Given the description of an element on the screen output the (x, y) to click on. 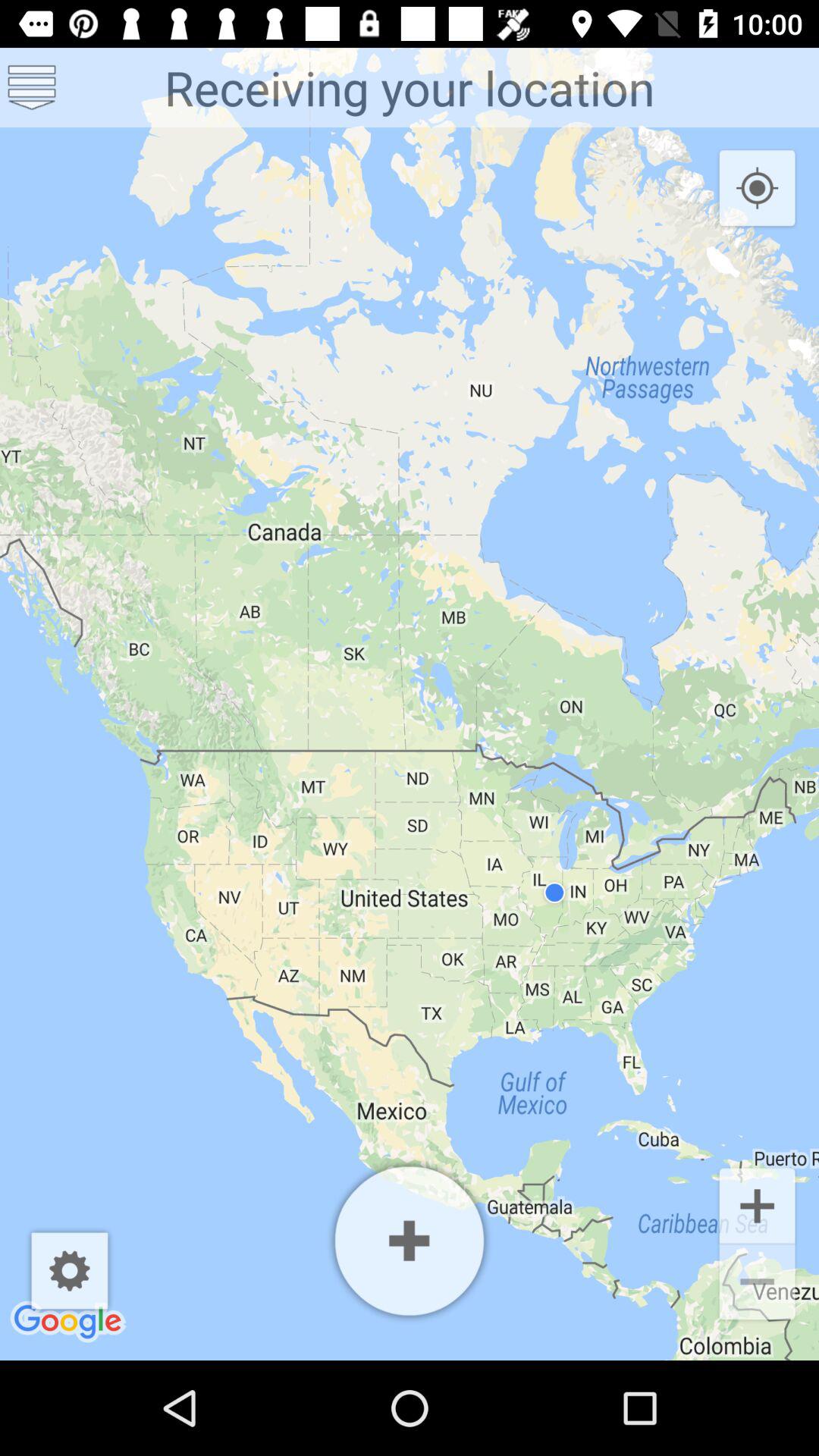
toggle area expansion (409, 1240)
